Given the description of an element on the screen output the (x, y) to click on. 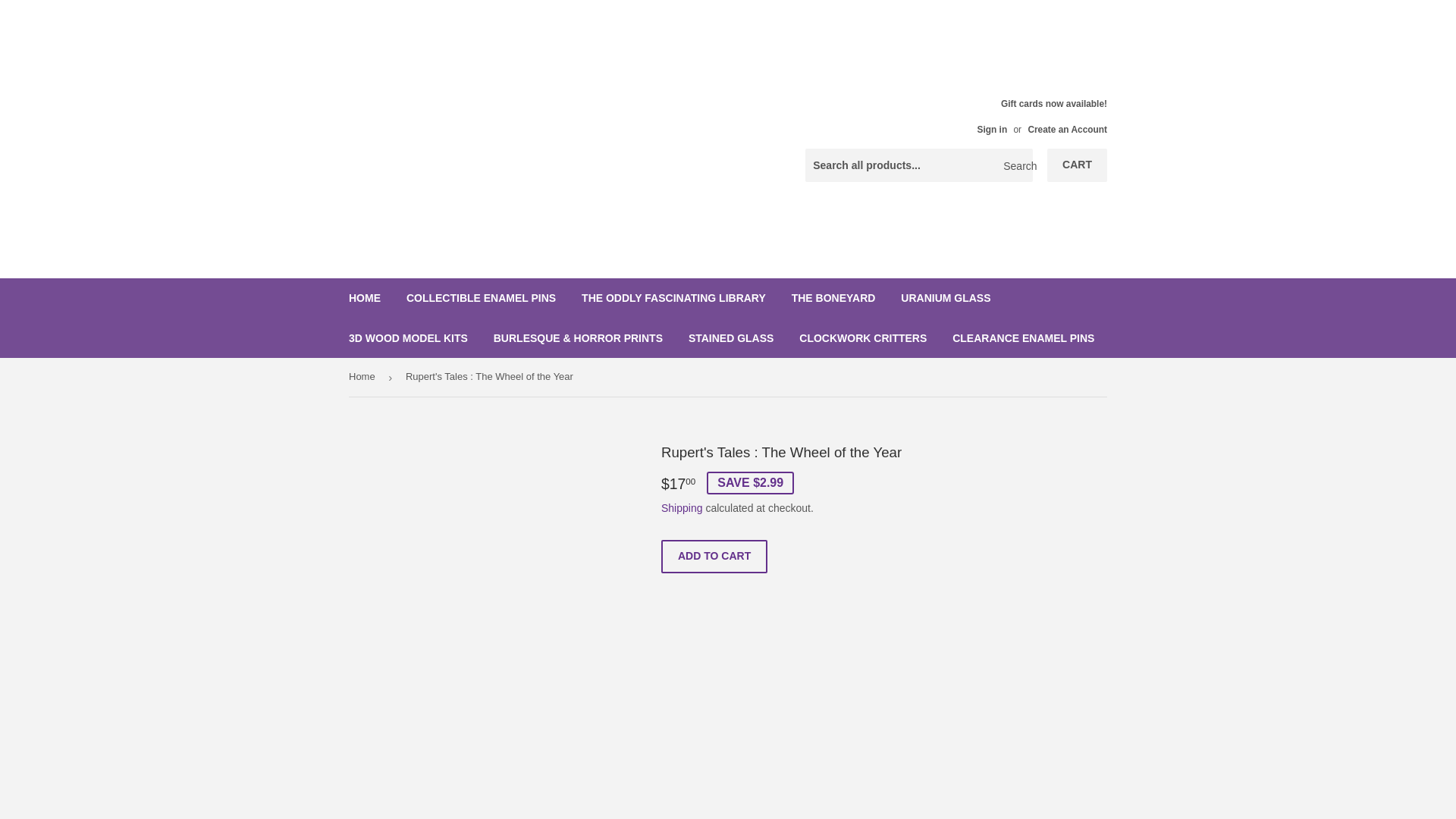
Gift cards now available! (1036, 116)
THE ODDLY FASCINATING LIBRARY (673, 297)
THE BONEYARD (833, 297)
Create an Account (1066, 129)
Search (1015, 165)
Shipping (682, 508)
CLOCKWORK CRITTERS (862, 337)
HOME (364, 297)
URANIUM GLASS (945, 297)
3D WOOD MODEL KITS (408, 337)
CART (1076, 164)
STAINED GLASS (731, 337)
ADD TO CART (714, 556)
CLEARANCE ENAMEL PINS (1022, 337)
Sign in (991, 129)
